Given the description of an element on the screen output the (x, y) to click on. 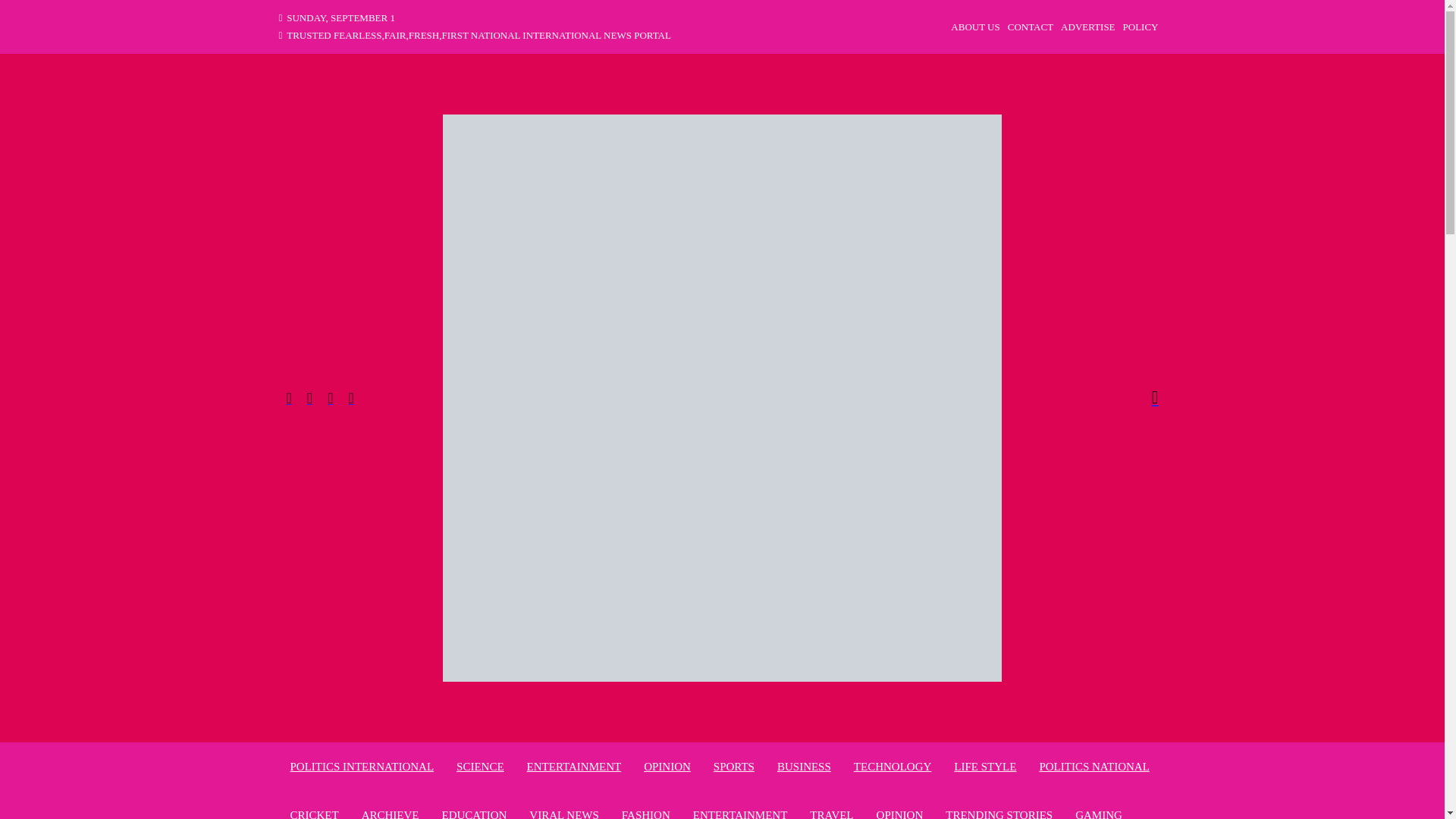
POLICY (1140, 26)
ABOUT US (974, 26)
GAMING (1098, 811)
ENTERTAINMENT (574, 766)
POLITICS INTERNATIONAL (361, 766)
Politics National (1093, 766)
TECHNOLOGY (892, 766)
advertisement (1088, 26)
ADVERTISE (1088, 26)
ENTERTAINMENT (740, 811)
